Given the description of an element on the screen output the (x, y) to click on. 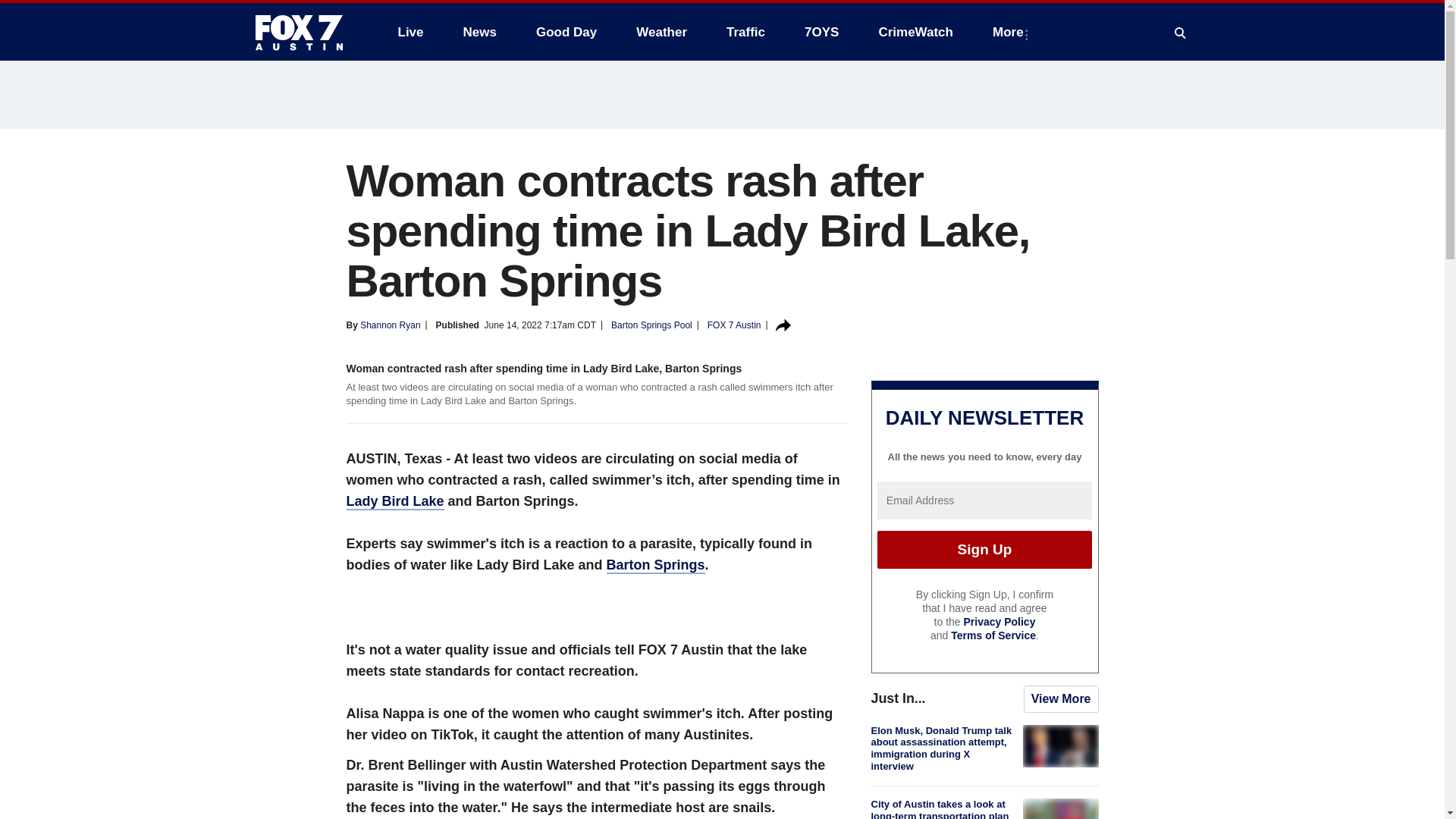
More (1010, 32)
Live (410, 32)
Weather (661, 32)
7OYS (821, 32)
CrimeWatch (915, 32)
News (479, 32)
Good Day (566, 32)
Sign Up (984, 549)
Traffic (745, 32)
